Given the description of an element on the screen output the (x, y) to click on. 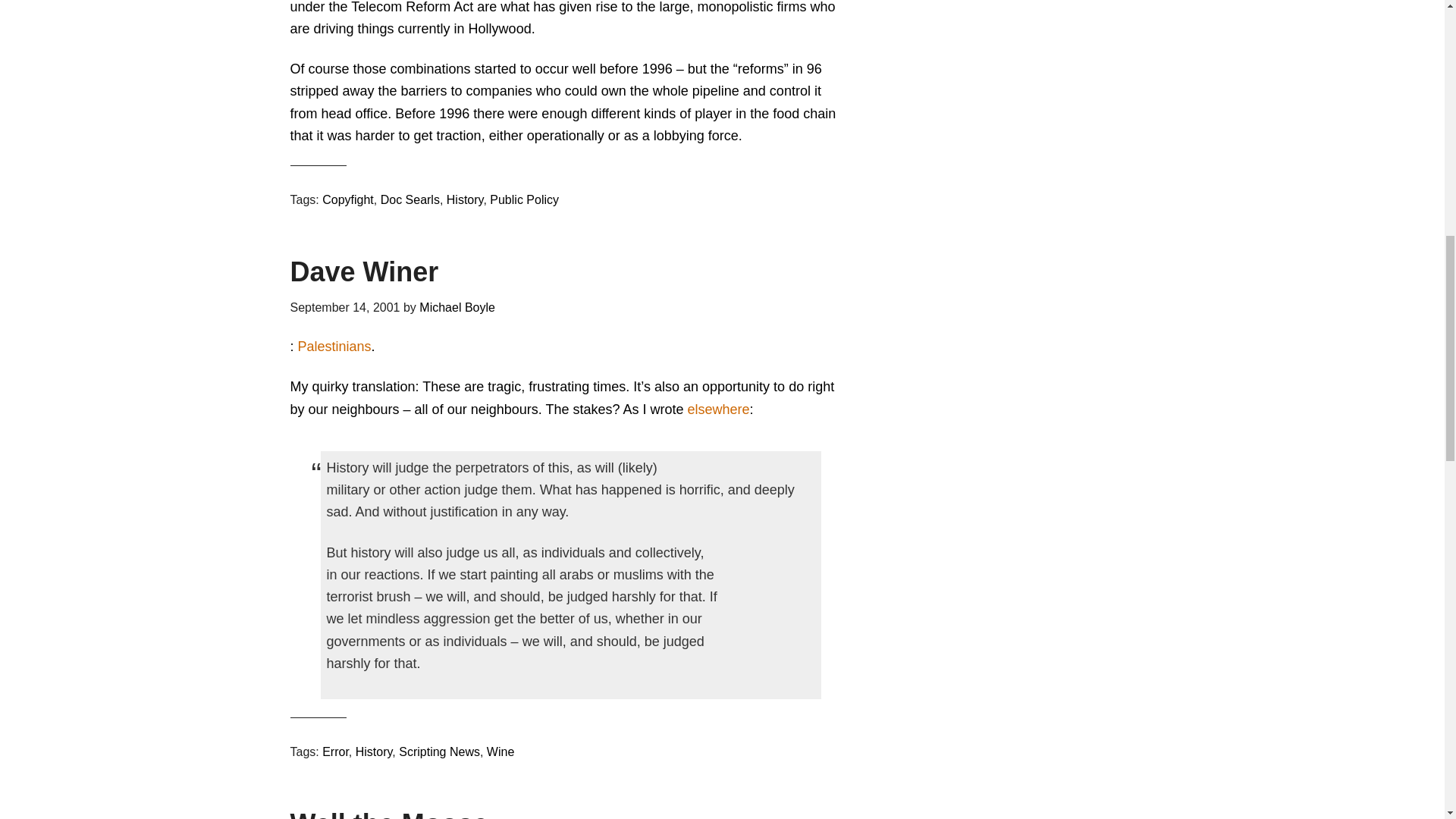
Error (335, 751)
Wine (499, 751)
Public Policy (524, 199)
Michael Boyle (457, 307)
Dave Winer (363, 271)
Palestinians (334, 346)
History (464, 199)
Well the Moose (388, 813)
Scripting News (439, 751)
elsewhere (718, 409)
